Given the description of an element on the screen output the (x, y) to click on. 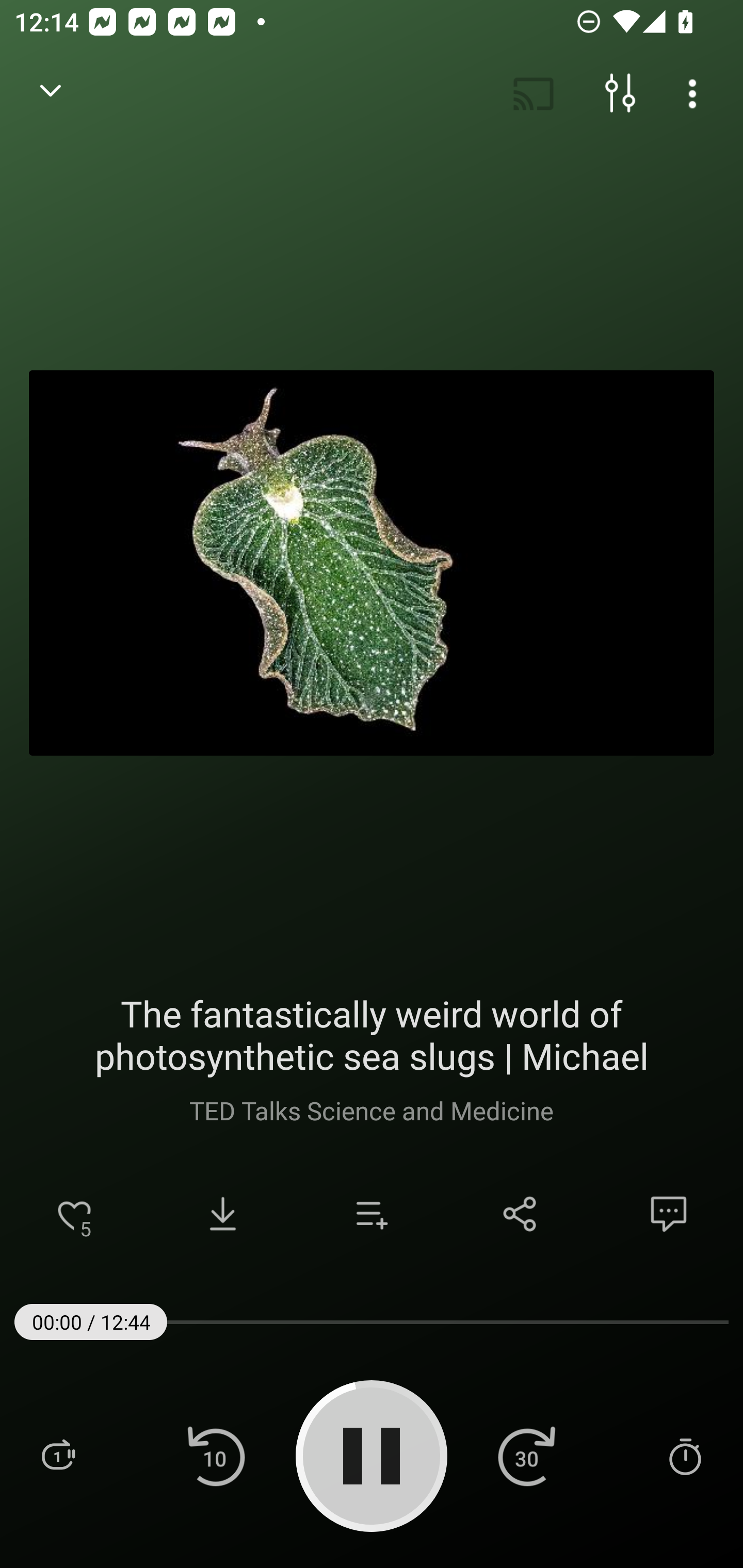
Cast. Disconnected (533, 93)
 Back (50, 94)
TED Talks Science and Medicine (370, 1109)
Share (519, 1214)
Comments (668, 1214)
Add to Favorites (73, 1214)
Add to playlist (371, 1214)
 Playlist (57, 1455)
Sleep Timer  (684, 1455)
